Given the description of an element on the screen output the (x, y) to click on. 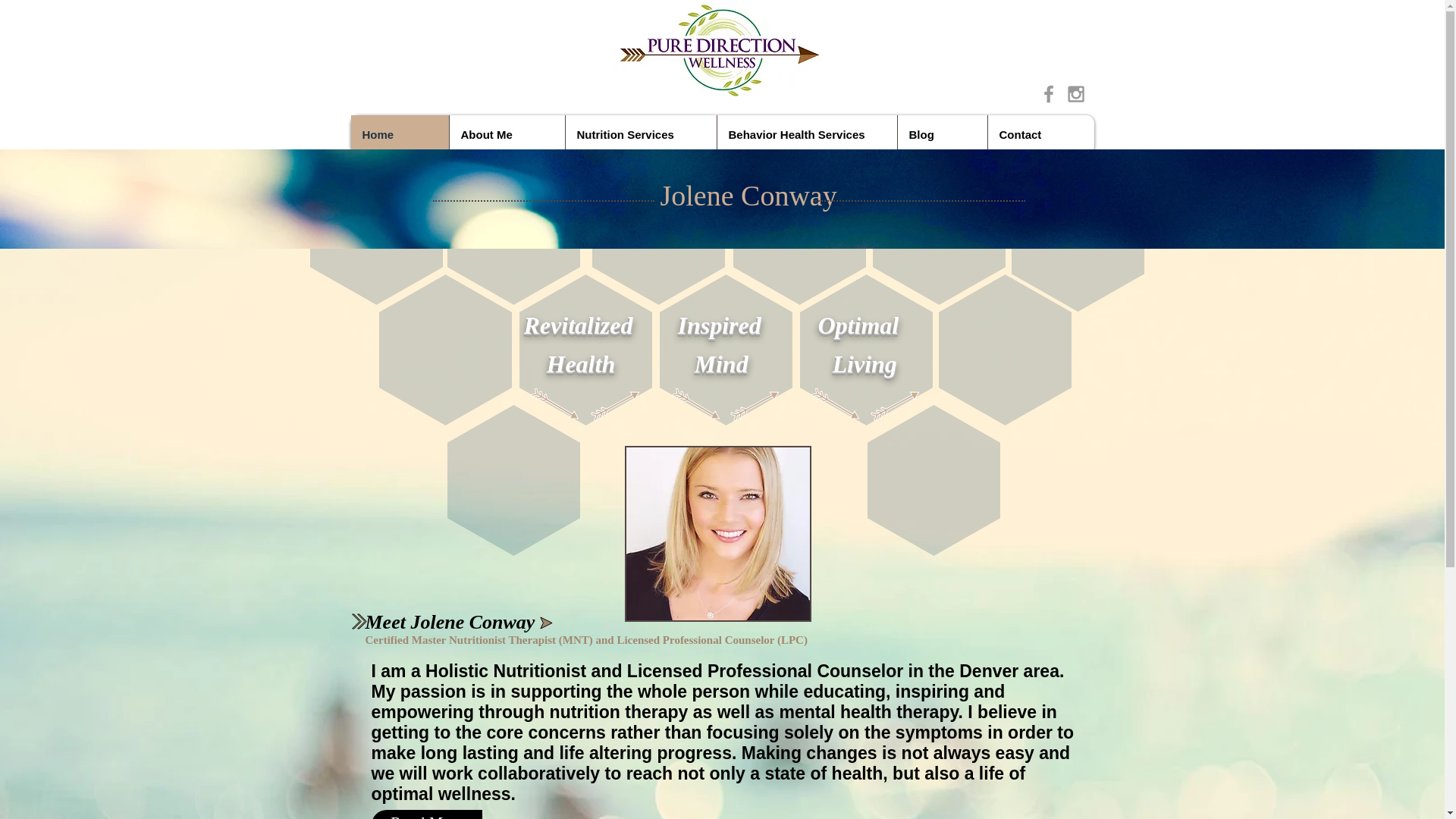
Nutrition Services (640, 134)
Home (399, 134)
About Me (506, 134)
Contact (1040, 134)
Behavior Health Services (806, 134)
Read More (426, 814)
Blog (941, 134)
